Given the description of an element on the screen output the (x, y) to click on. 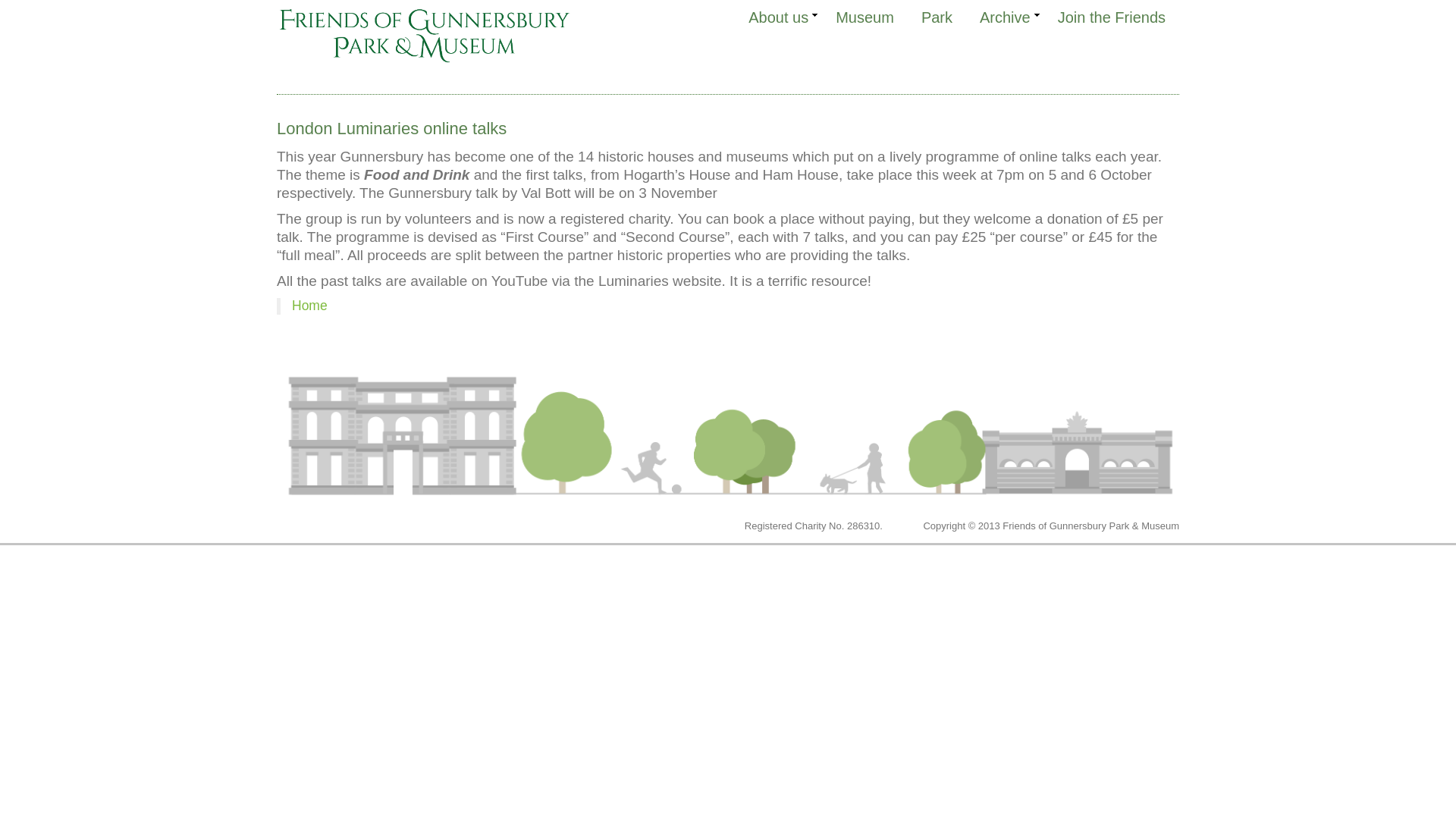
About us (778, 17)
Home (309, 305)
Join the Friends (1111, 17)
Archive (1004, 17)
Museum (864, 17)
Park (936, 17)
